Given the description of an element on the screen output the (x, y) to click on. 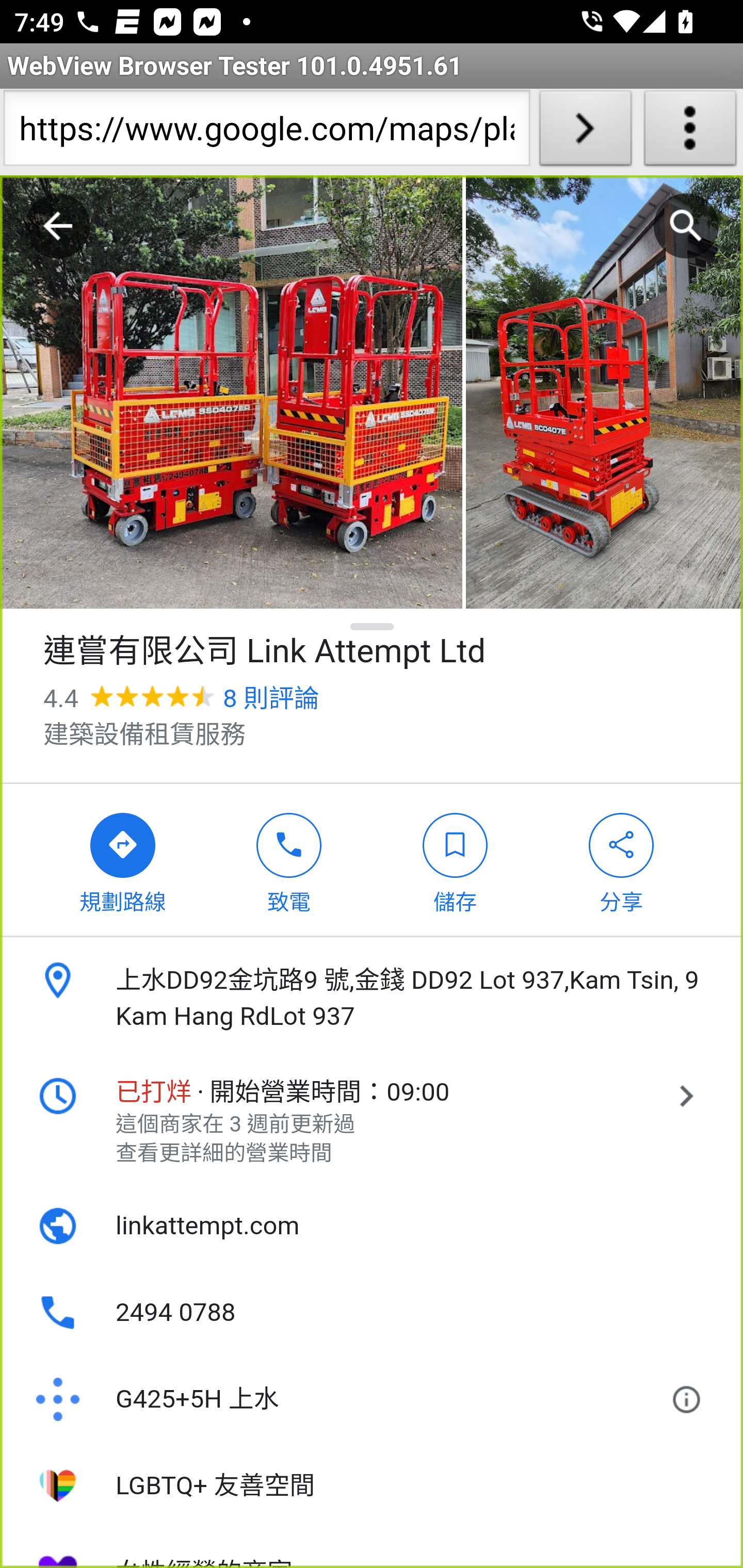
Load URL (585, 132)
About WebView (690, 132)
第 1 張相片 (共 9 張) (231, 392)
第 2 張相片 (共 9 張) (604, 392)
返回 (58, 226)
搜尋 (686, 226)
隱藏詳細資訊 (372, 626)
4.4 星級 8 則評論 (181, 698)
前往連嘗有限公司 Link Attempt Ltd的路線 (123, 858)
致電「連嘗有限公司 Link Attempt Ltd」  致電 (289, 858)
將「連嘗有限公司 Link Attempt Ltd」儲存至清單中 (454, 858)
分享「連嘗有限公司 Link Attempt Ltd」 (621, 858)
已打烊 ⋅ 開始營業時間：09:00·查看更詳細的營業時間 (371, 1120)
網站: linkattempt.com  linkattempt.com (371, 1226)
電話號碼: 2494 0788  2494 0788 (371, 1313)
Plus Code: G425+5H 上水 (345, 1400)
進一步瞭解 Plus Codes (690, 1400)
